Given the description of an element on the screen output the (x, y) to click on. 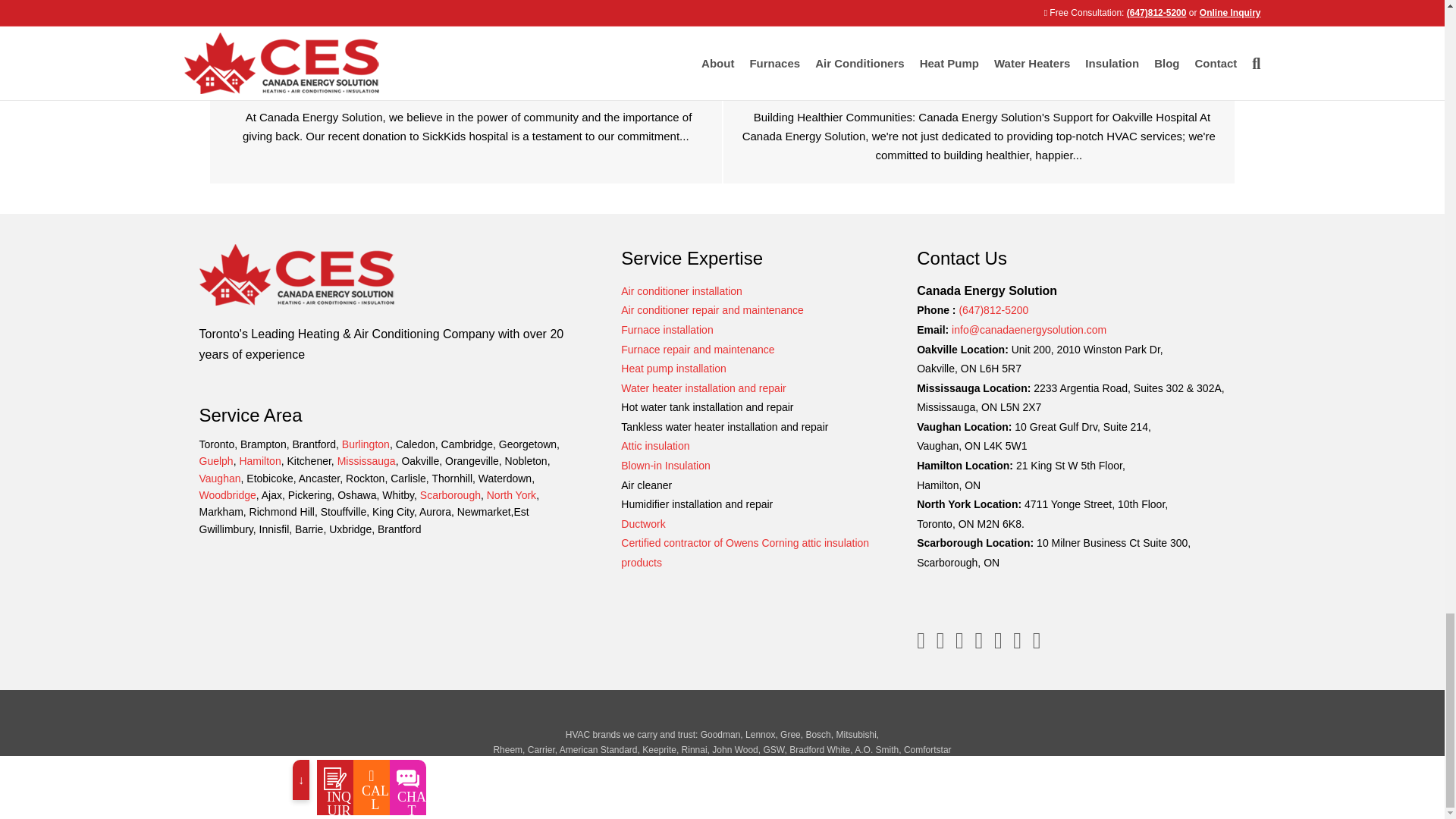
Supporting Our Future: Our Donation to SickKids (465, 91)
Improving Local Healthcare: Our Support to Oakville Hospital (978, 91)
donation-to-sickkids2 (465, 20)
Oakvill Hospital.2 (978, 20)
